Given the description of an element on the screen output the (x, y) to click on. 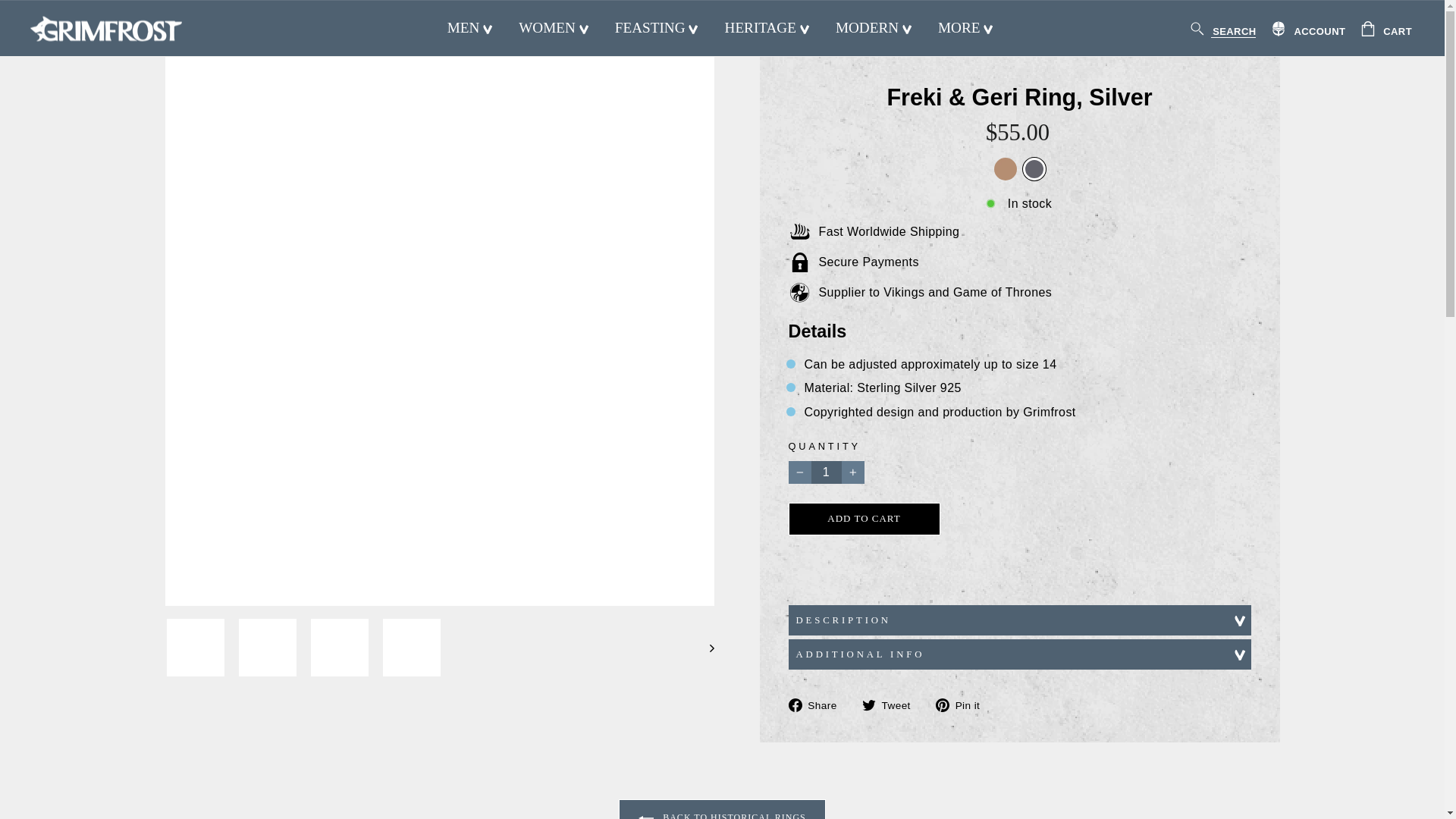
Back to the frontpage (179, 14)
Tweet on Twitter (891, 704)
Share on Facebook (818, 704)
Pin on Pinterest (963, 704)
1 (826, 472)
